Given the description of an element on the screen output the (x, y) to click on. 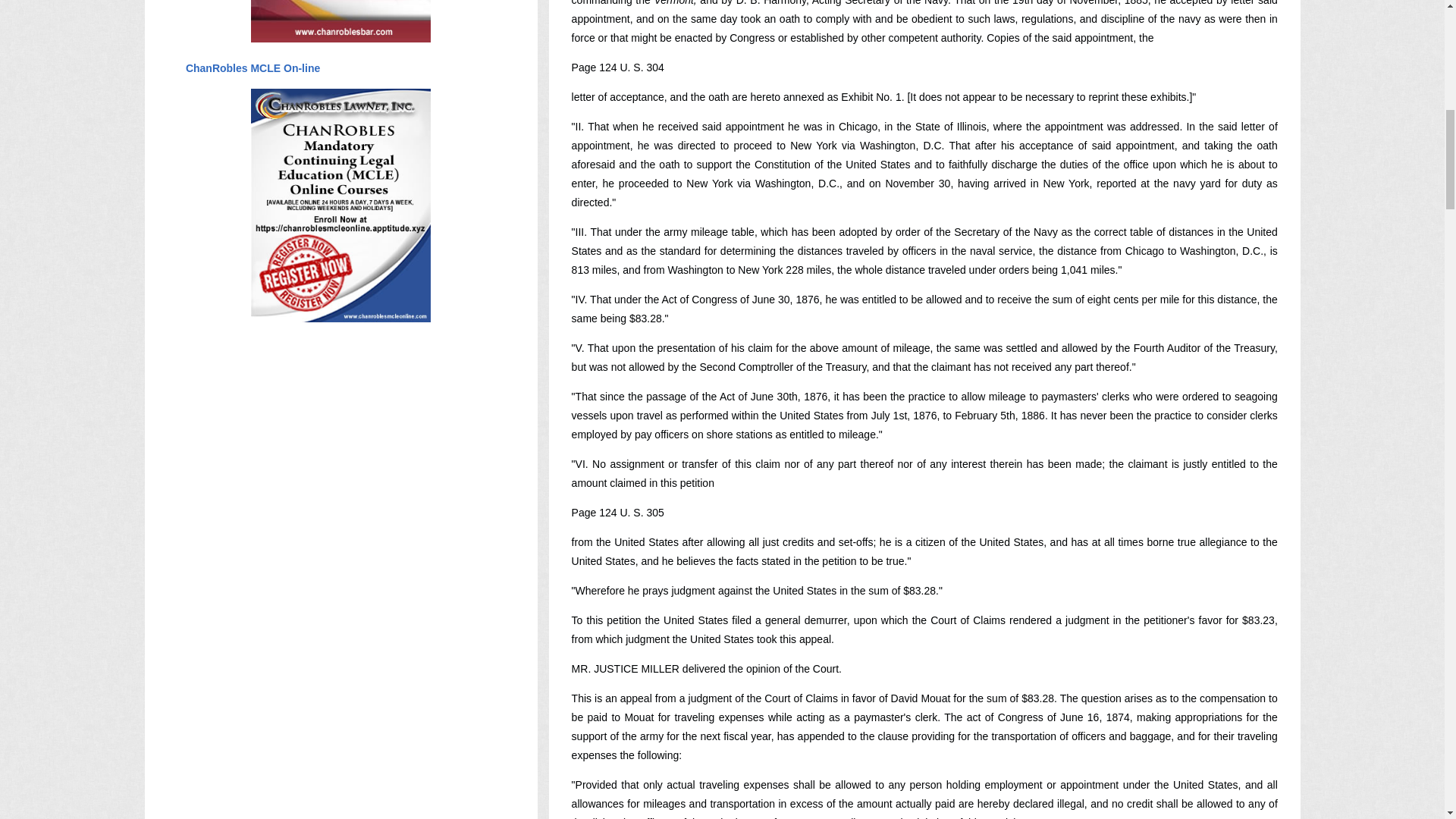
Page 124 U. S. 305 (617, 512)
Page 124 U. S. 304 (617, 67)
ChanRobles MCLE On-line (252, 68)
